Given the description of an element on the screen output the (x, y) to click on. 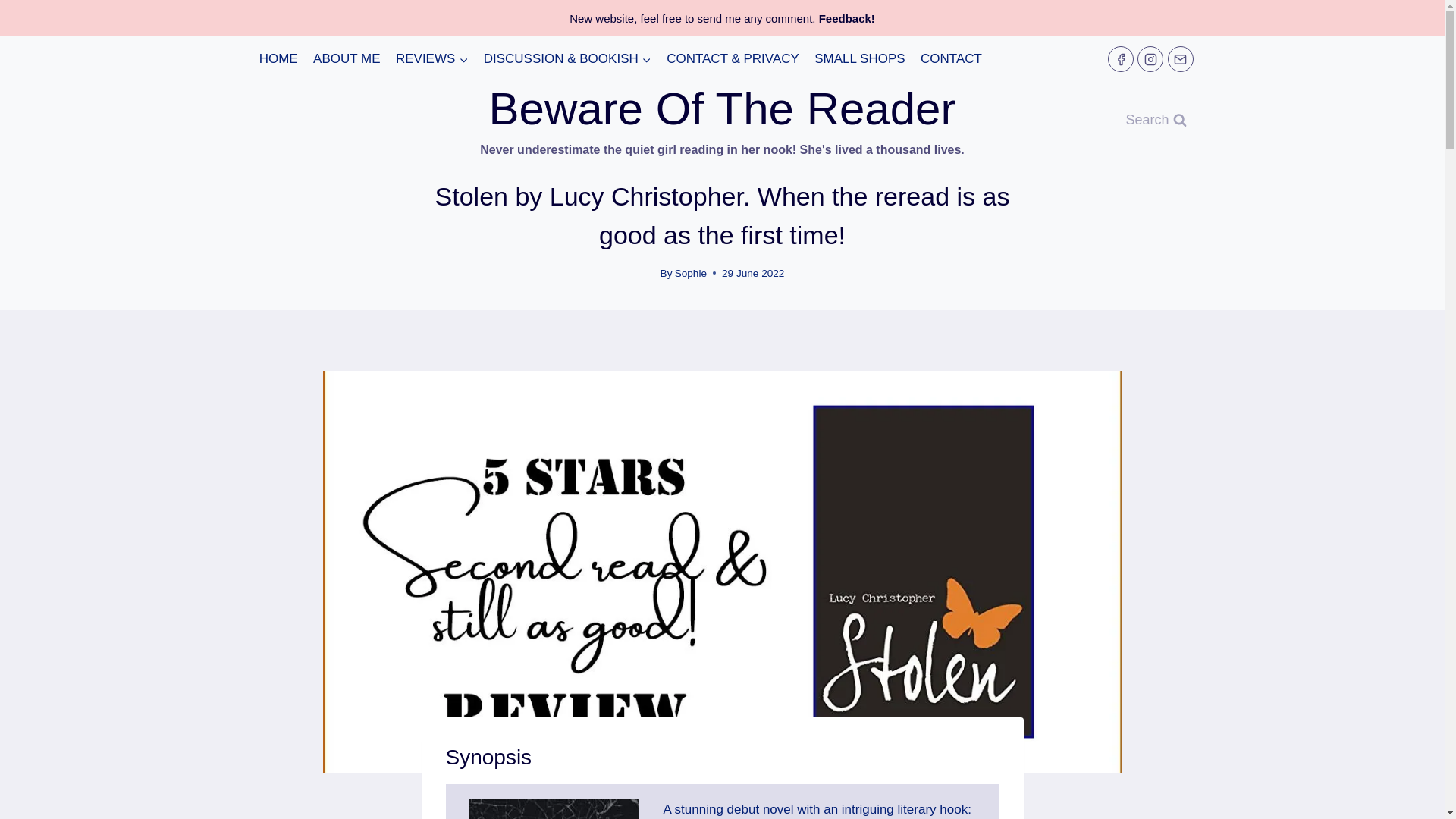
Search (1155, 120)
REVIEWS (432, 58)
Feedback! (846, 18)
HOME (278, 58)
Feedback! (846, 18)
Sophie (690, 273)
ABOUT ME (346, 58)
SMALL SHOPS (859, 58)
CONTACT (951, 58)
